Given the description of an element on the screen output the (x, y) to click on. 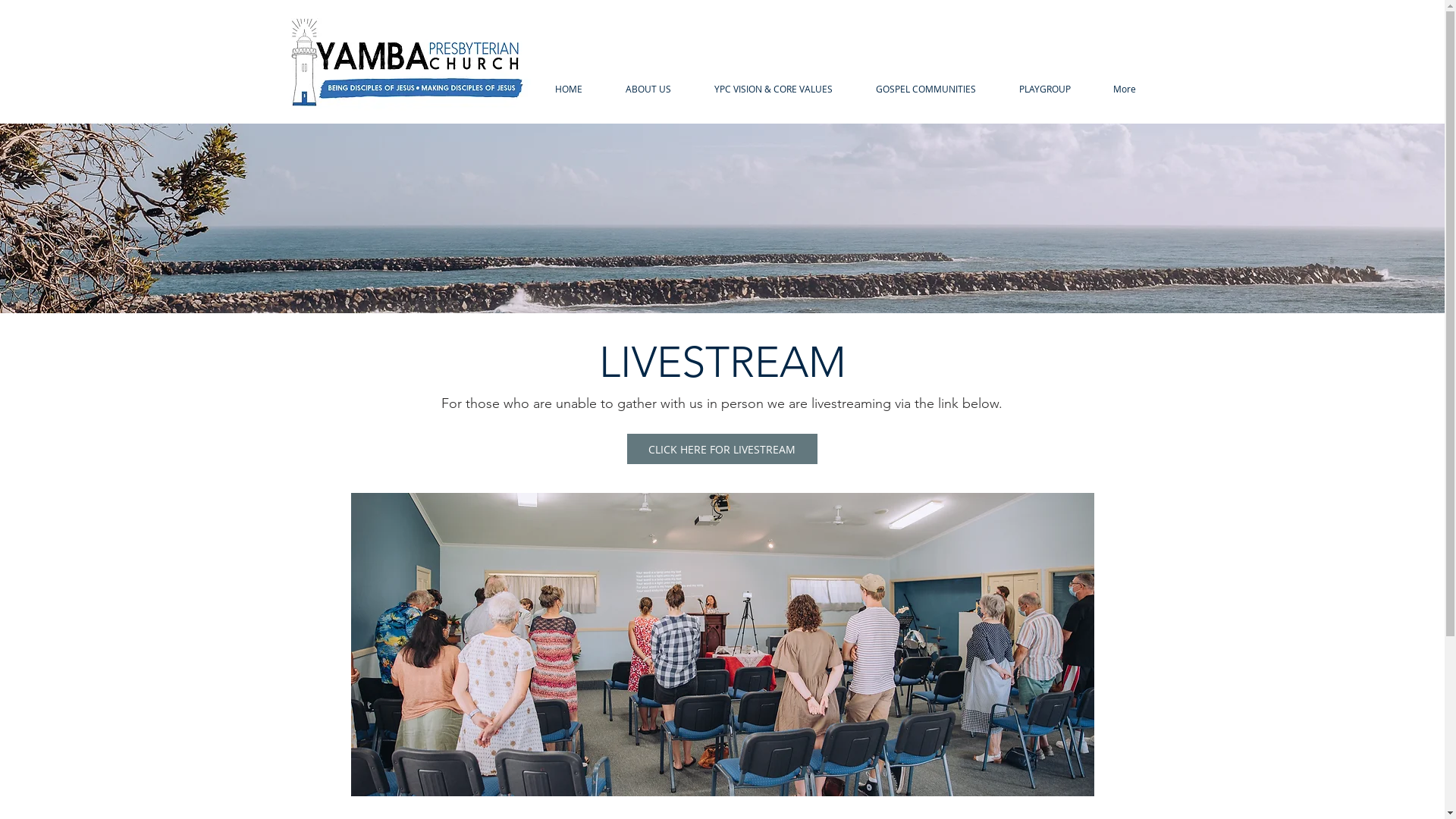
PLAYGROUP Element type: text (1044, 89)
ABOUT US Element type: text (647, 89)
CLICK HERE FOR LIVESTREAM Element type: text (721, 448)
YPC VISION & CORE VALUES Element type: text (773, 89)
Screen Shot 2022-01-13 at 11.34.07 am.pn Element type: hover (418, 72)
HOME Element type: text (568, 89)
GOSPEL COMMUNITIES Element type: text (925, 89)
